Given the description of an element on the screen output the (x, y) to click on. 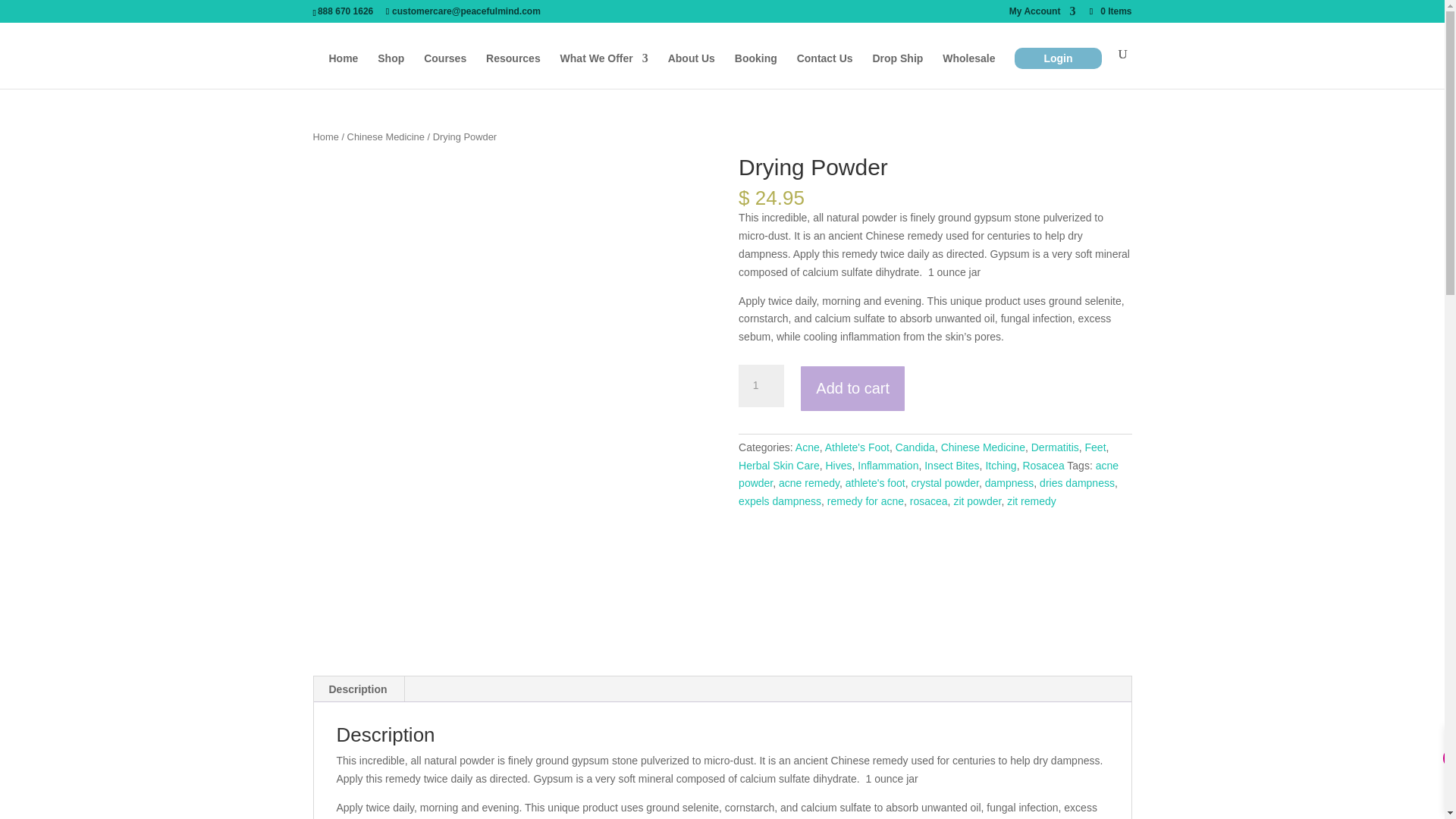
My Account (1042, 14)
0 Items (1108, 10)
1 (761, 385)
Shop (390, 70)
Home (343, 70)
What We Offer (603, 70)
Resources (513, 70)
Courses (444, 70)
